Given the description of an element on the screen output the (x, y) to click on. 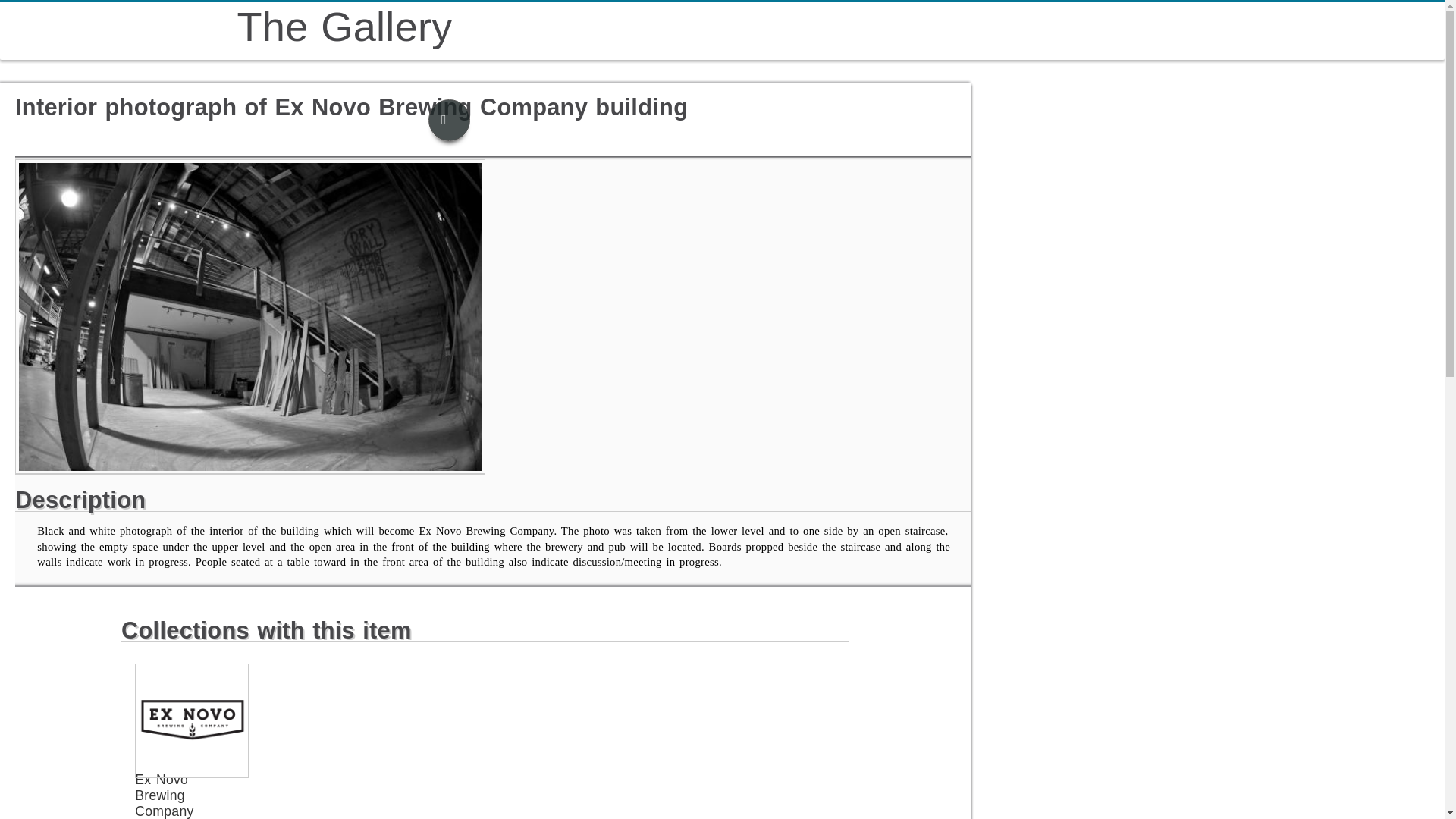
The Gallery (343, 26)
Home page (343, 26)
